Given the description of an element on the screen output the (x, y) to click on. 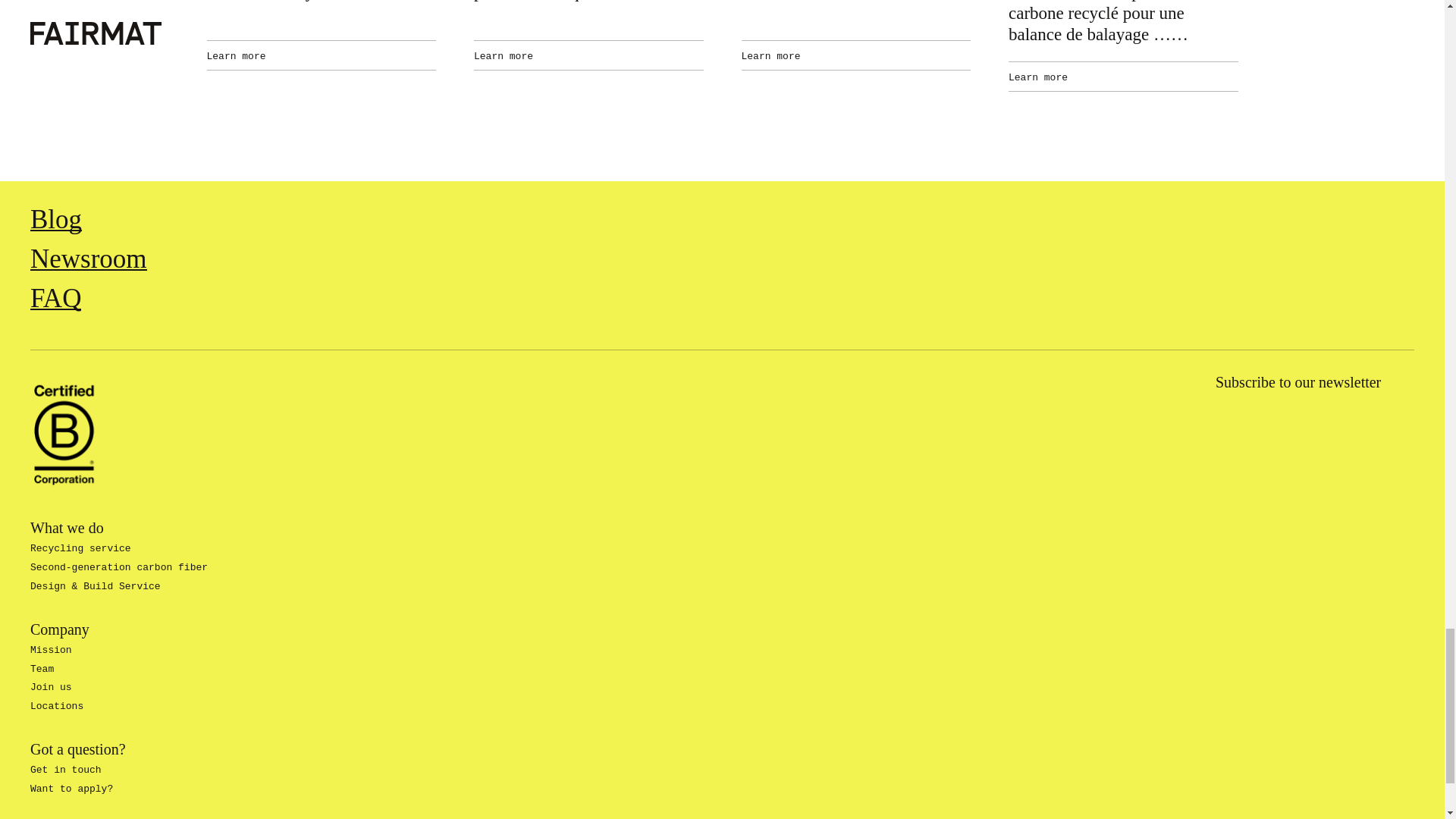
Learn more (856, 55)
Learn more (1124, 76)
Blog (55, 215)
Team (41, 668)
Newsroom (88, 255)
Recycling service (80, 548)
Second-generation carbon fiber (119, 567)
Mission (50, 650)
FAQ (55, 295)
Learn more (320, 55)
